Given the description of an element on the screen output the (x, y) to click on. 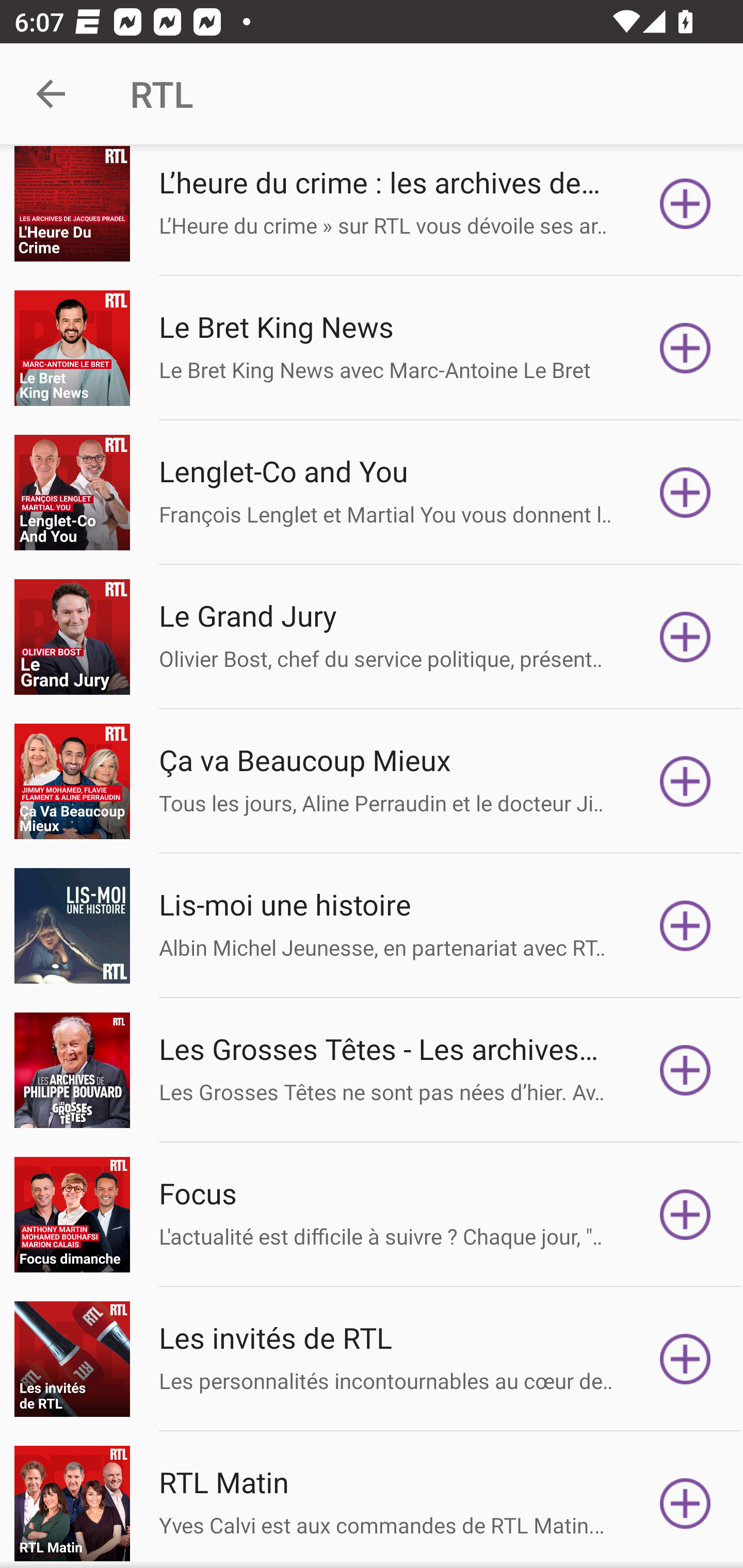
Navigate up (50, 93)
Subscribe (685, 203)
Subscribe (685, 348)
Subscribe (685, 492)
Subscribe (685, 636)
Subscribe (685, 781)
Subscribe (685, 925)
Subscribe (685, 1069)
Subscribe (685, 1215)
Subscribe (685, 1359)
Subscribe (685, 1503)
